Given the description of an element on the screen output the (x, y) to click on. 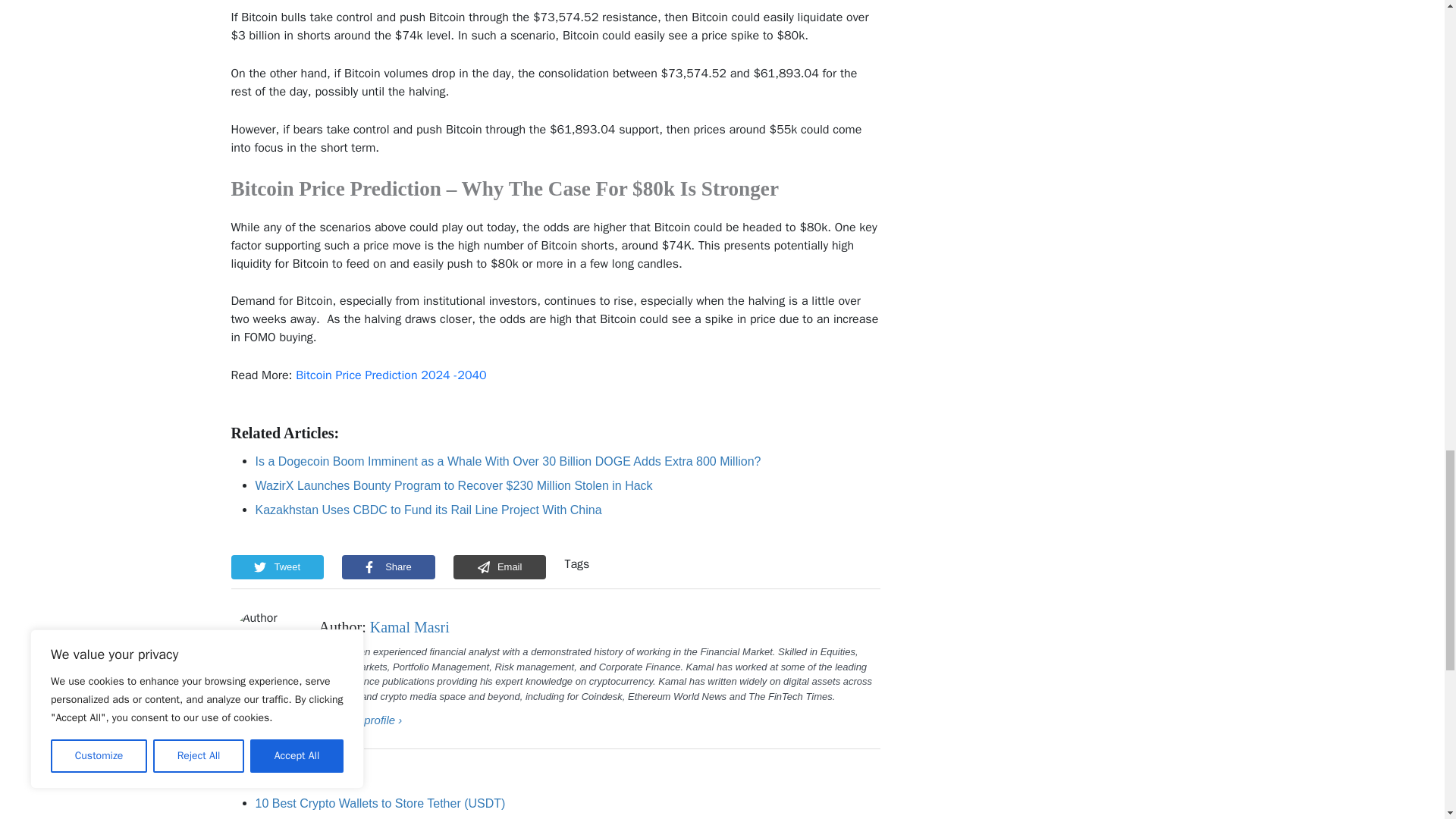
Share via Email (499, 567)
Share via Facebook (388, 567)
Share via Twitter (276, 567)
